Given the description of an element on the screen output the (x, y) to click on. 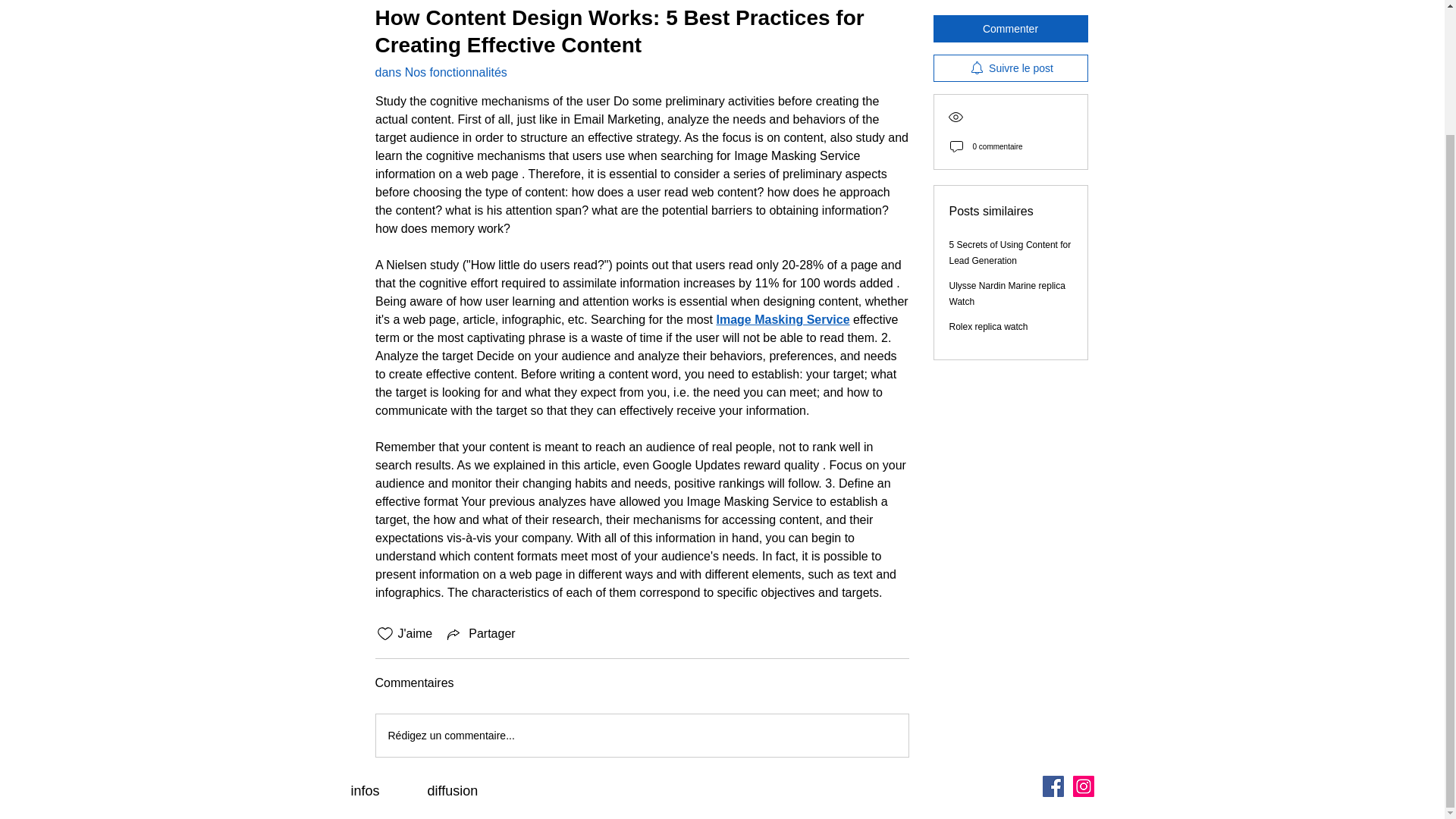
Ulysse Nardin Marine replica Watch (1007, 237)
Suivre le post (1010, 12)
Rolex replica watch (988, 270)
Image Masking Service (782, 318)
diffusion (454, 791)
5 Secrets of Using Content for Lead Generation (1010, 196)
infos (404, 791)
Partager (479, 633)
